Given the description of an element on the screen output the (x, y) to click on. 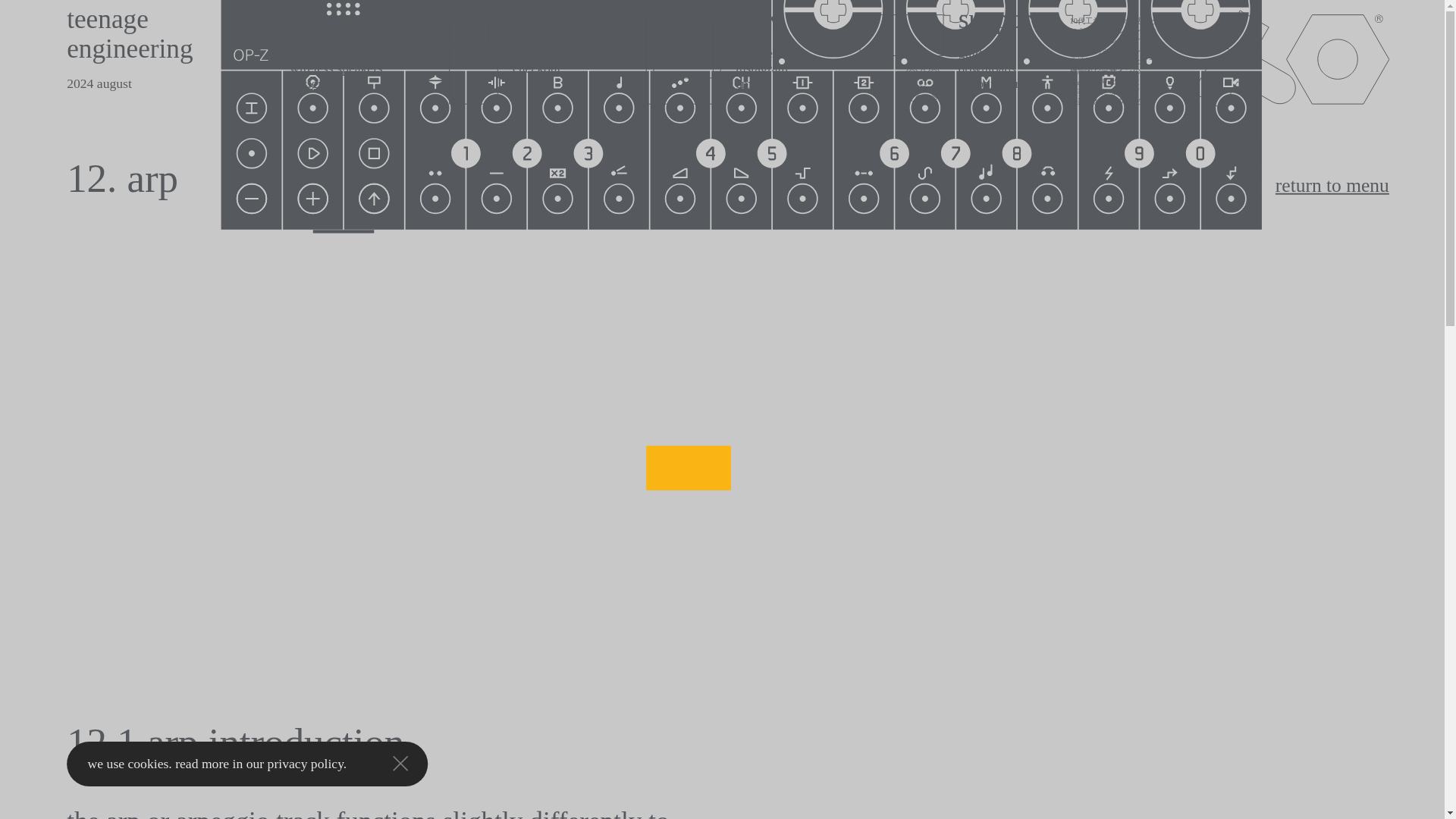
checkout (524, 63)
instagram (748, 63)
guides (967, 49)
products (312, 11)
return to menu (1304, 179)
wireless speakers (313, 63)
support portal (976, 79)
engineering (98, 41)
view cart (524, 49)
designs (299, 79)
privacy policy (286, 760)
support (978, 11)
newsletter (748, 49)
now (746, 11)
downloads (973, 63)
